Given the description of an element on the screen output the (x, y) to click on. 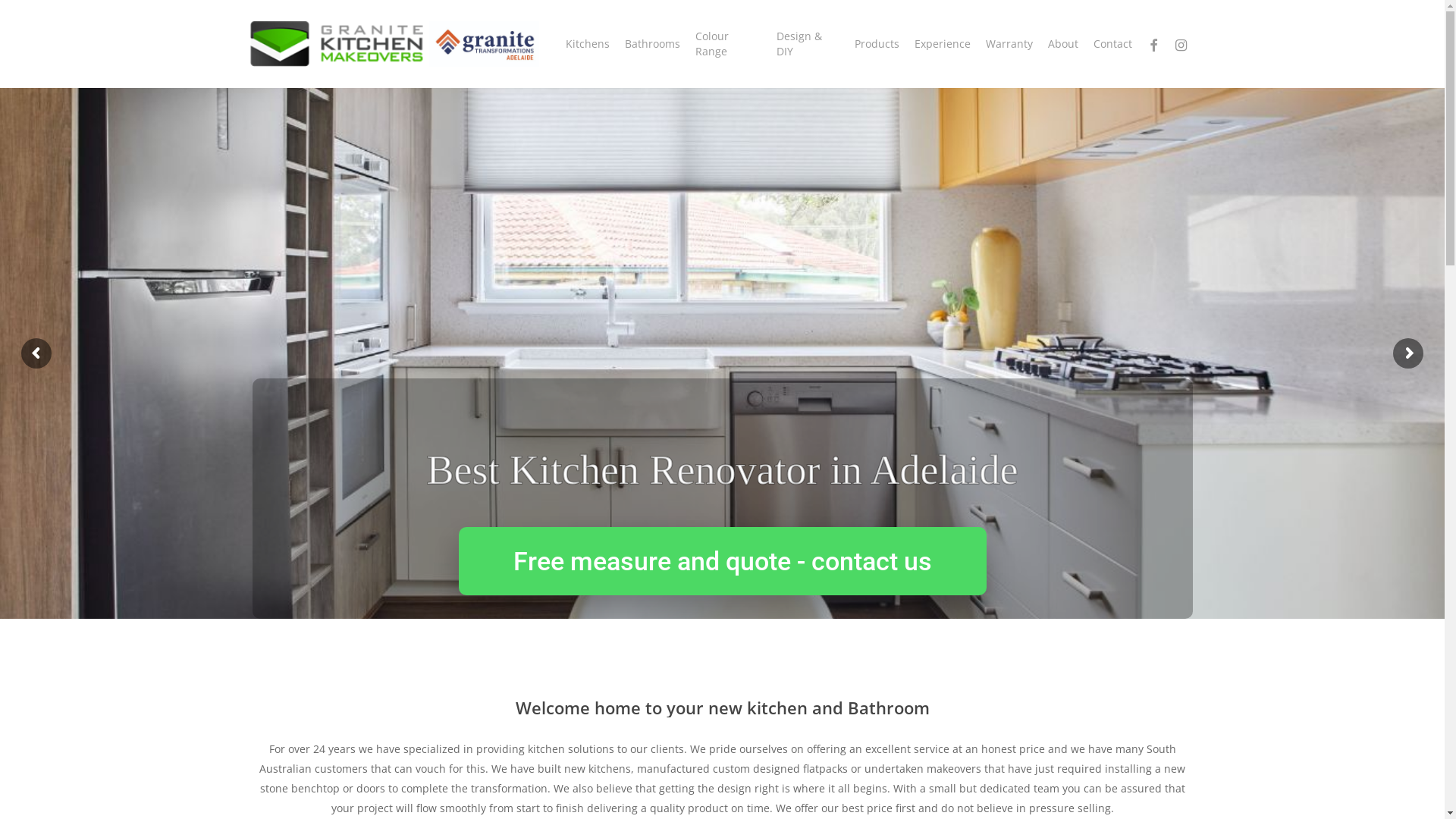
Design & DIY Element type: text (807, 43)
Experience Element type: text (942, 43)
Free measure and quote - contact us Element type: text (721, 561)
facebook Element type: text (1153, 43)
Colour Range Element type: text (728, 43)
instagram Element type: text (1180, 43)
Products Element type: text (876, 43)
Contact Element type: text (1112, 43)
About Element type: text (1063, 43)
Kitchens Element type: text (587, 43)
Warranty Element type: text (1008, 43)
Bathrooms Element type: text (652, 43)
